Given the description of an element on the screen output the (x, y) to click on. 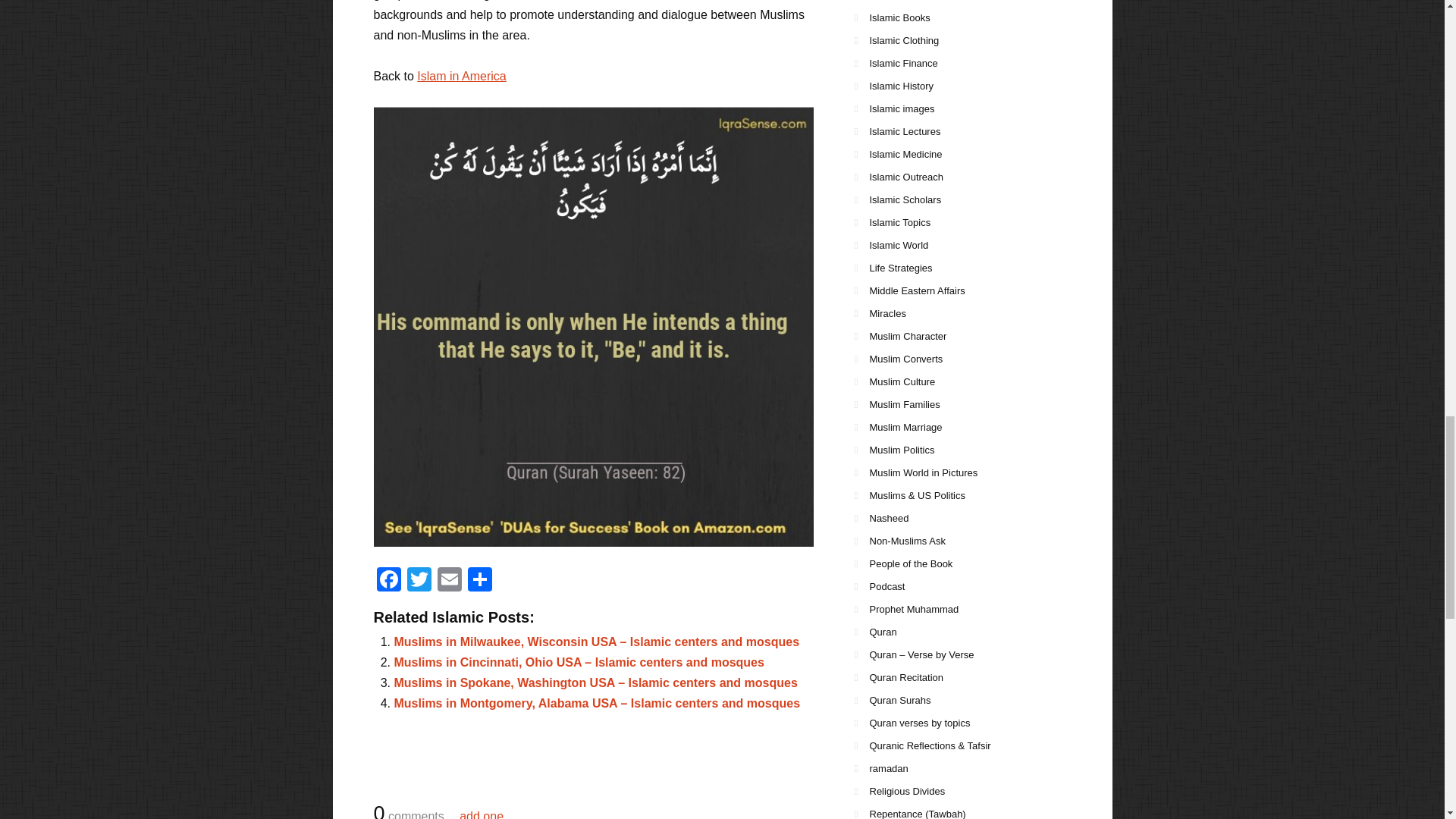
add one (481, 814)
Twitter (418, 581)
Facebook (387, 581)
Twitter (418, 581)
Facebook (387, 581)
Email (448, 581)
Islam in America (460, 75)
Email (448, 581)
Share (479, 581)
